Given the description of an element on the screen output the (x, y) to click on. 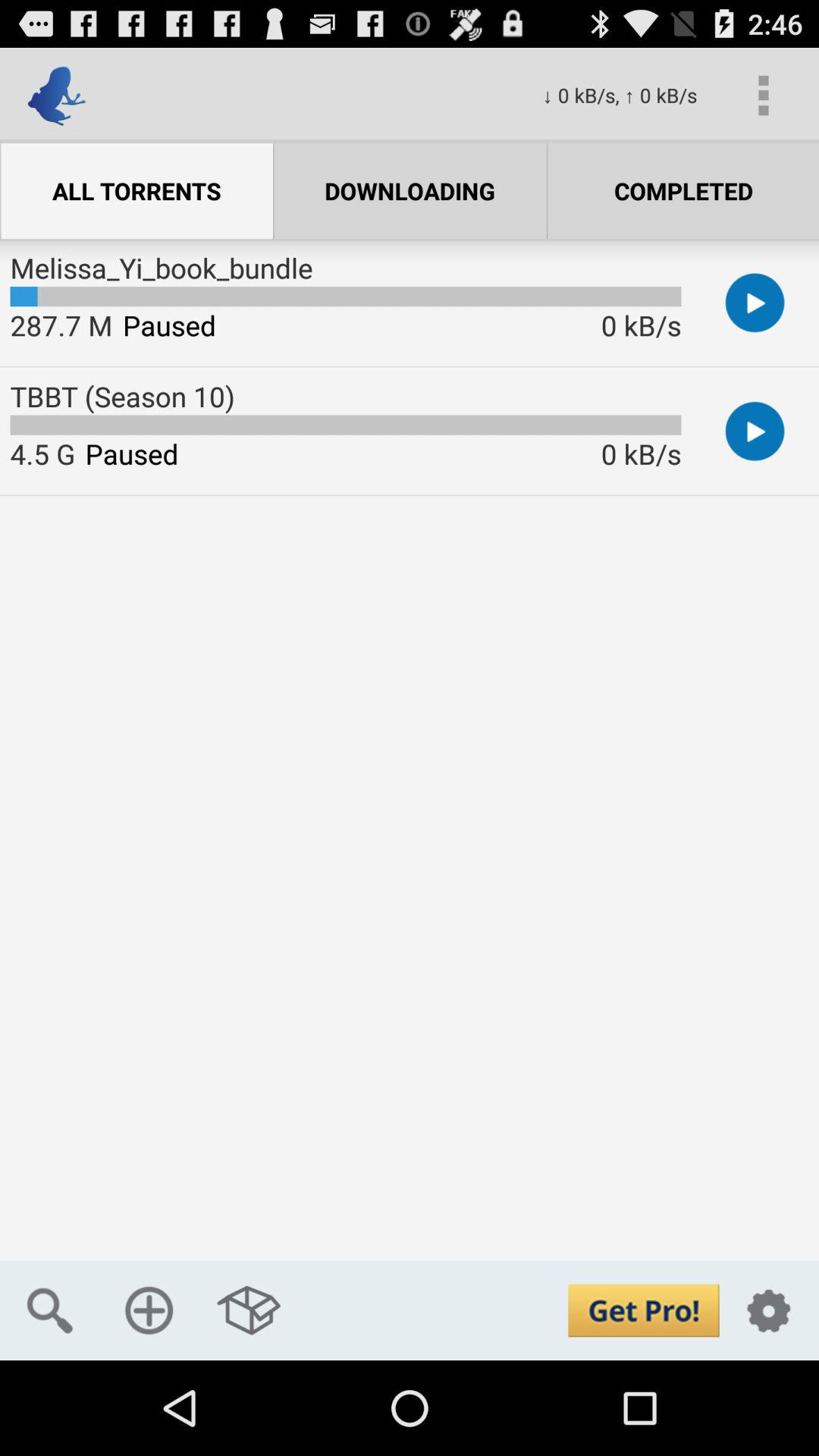
turn on the app below 4.5 g (49, 1310)
